Given the description of an element on the screen output the (x, y) to click on. 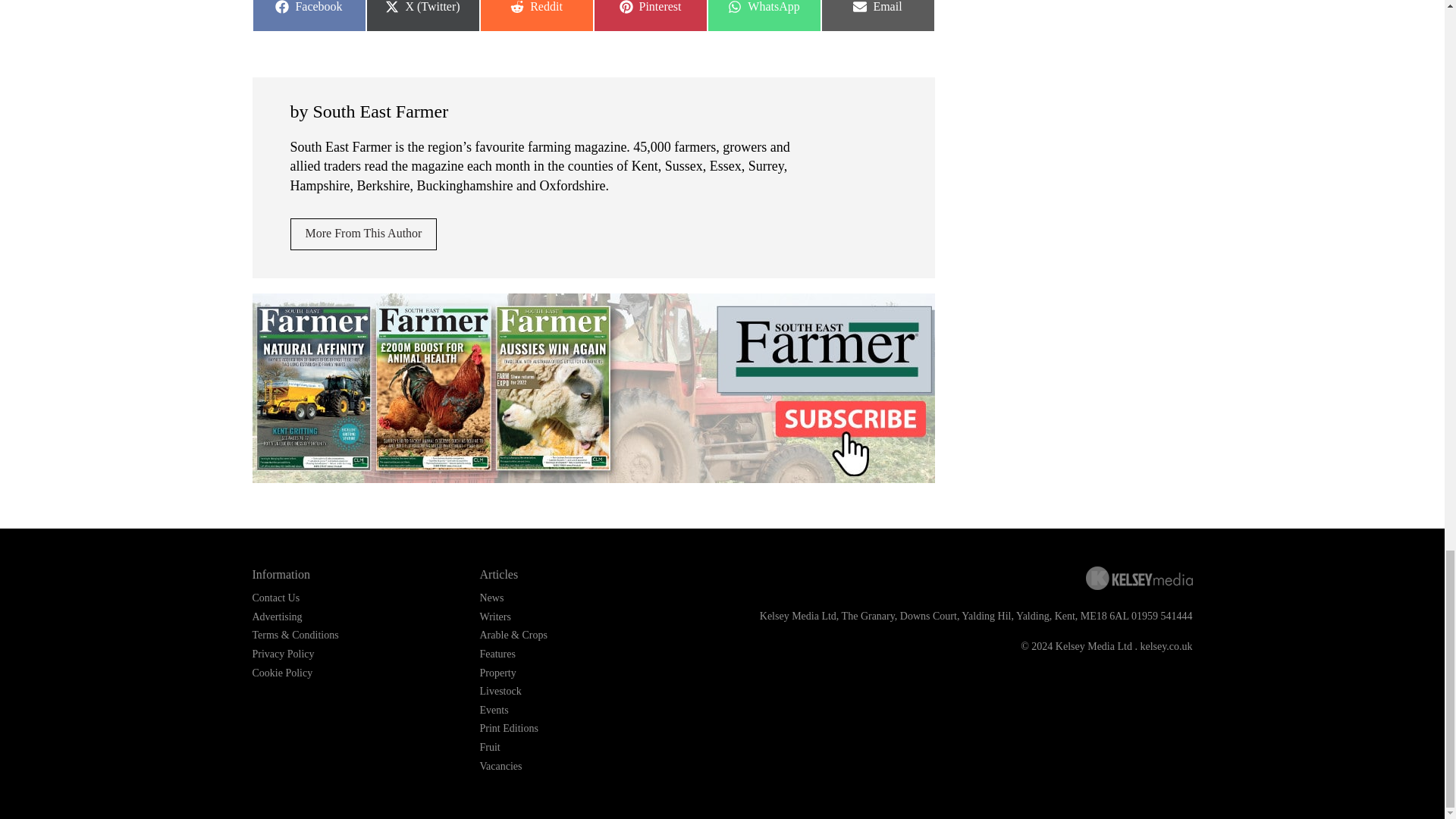
Advertising (763, 15)
More From This Author (308, 15)
Contact Us (535, 15)
